Given the description of an element on the screen output the (x, y) to click on. 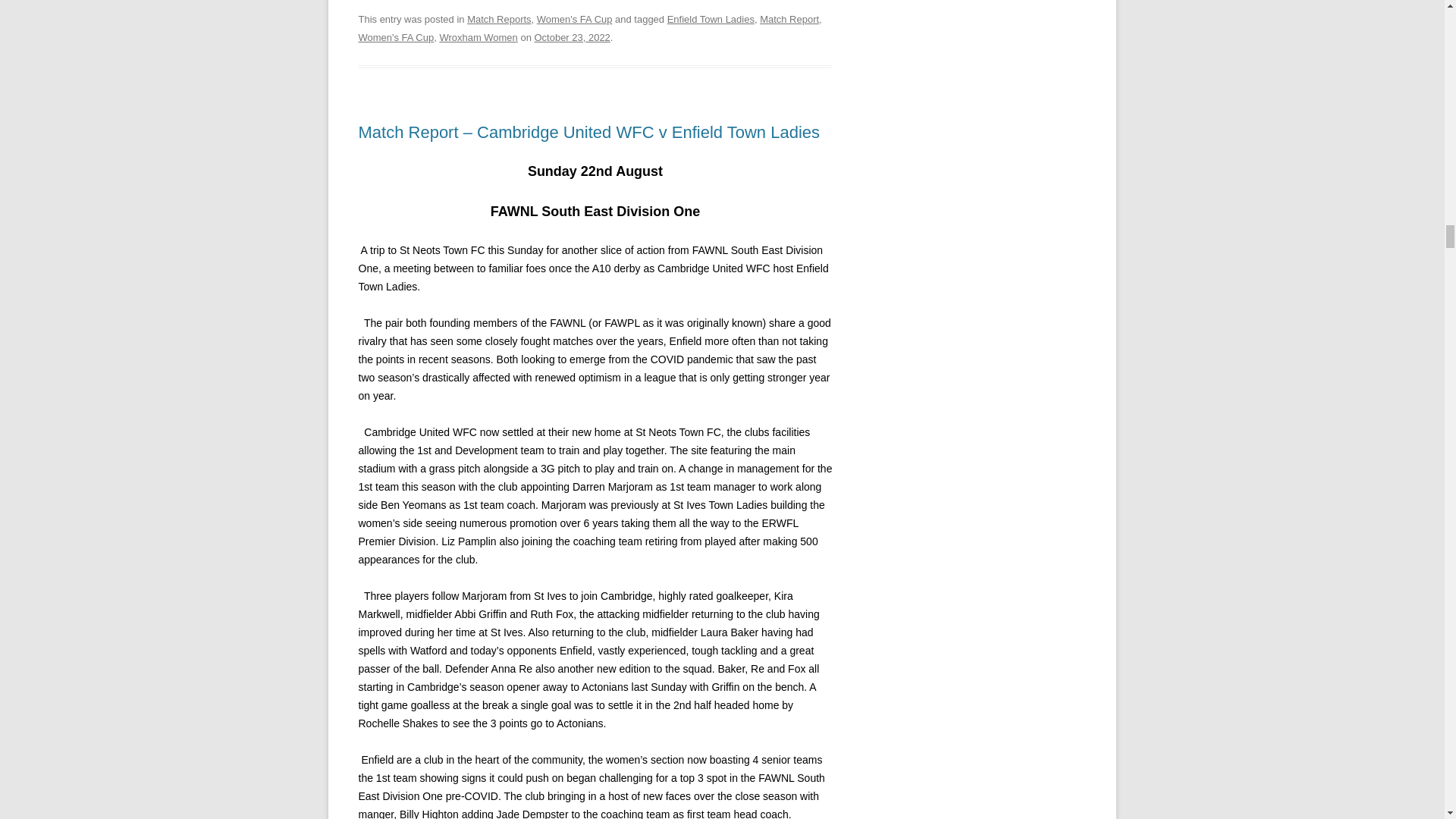
21:26 (572, 37)
